Given the description of an element on the screen output the (x, y) to click on. 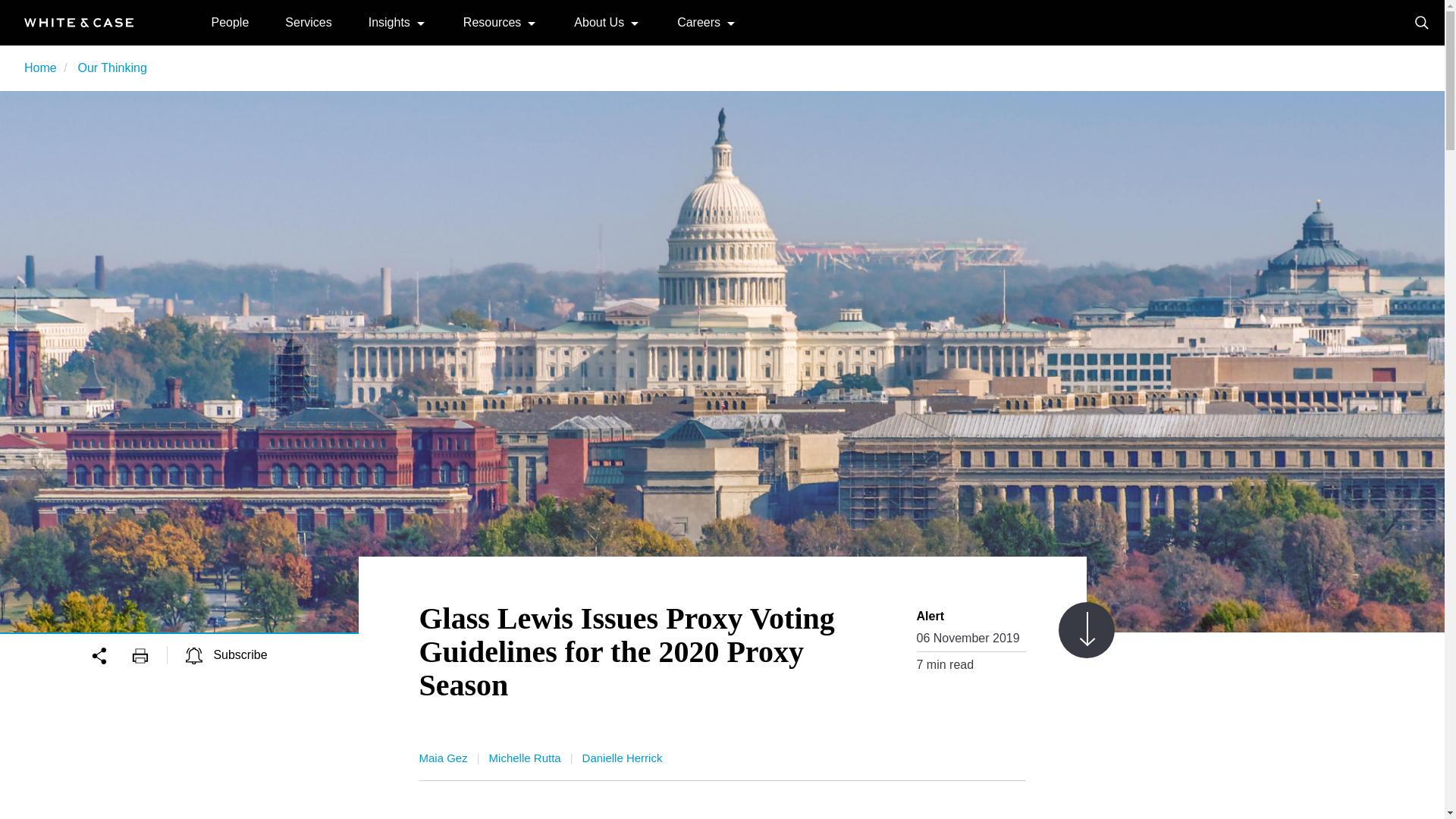
Michelle Rutta (524, 758)
Insights (389, 21)
About Us (598, 21)
Danielle Herrick (622, 758)
Resources (492, 21)
Subscribe (226, 654)
People (229, 21)
Home (78, 22)
Careers (698, 21)
Share (111, 654)
